Given the description of an element on the screen output the (x, y) to click on. 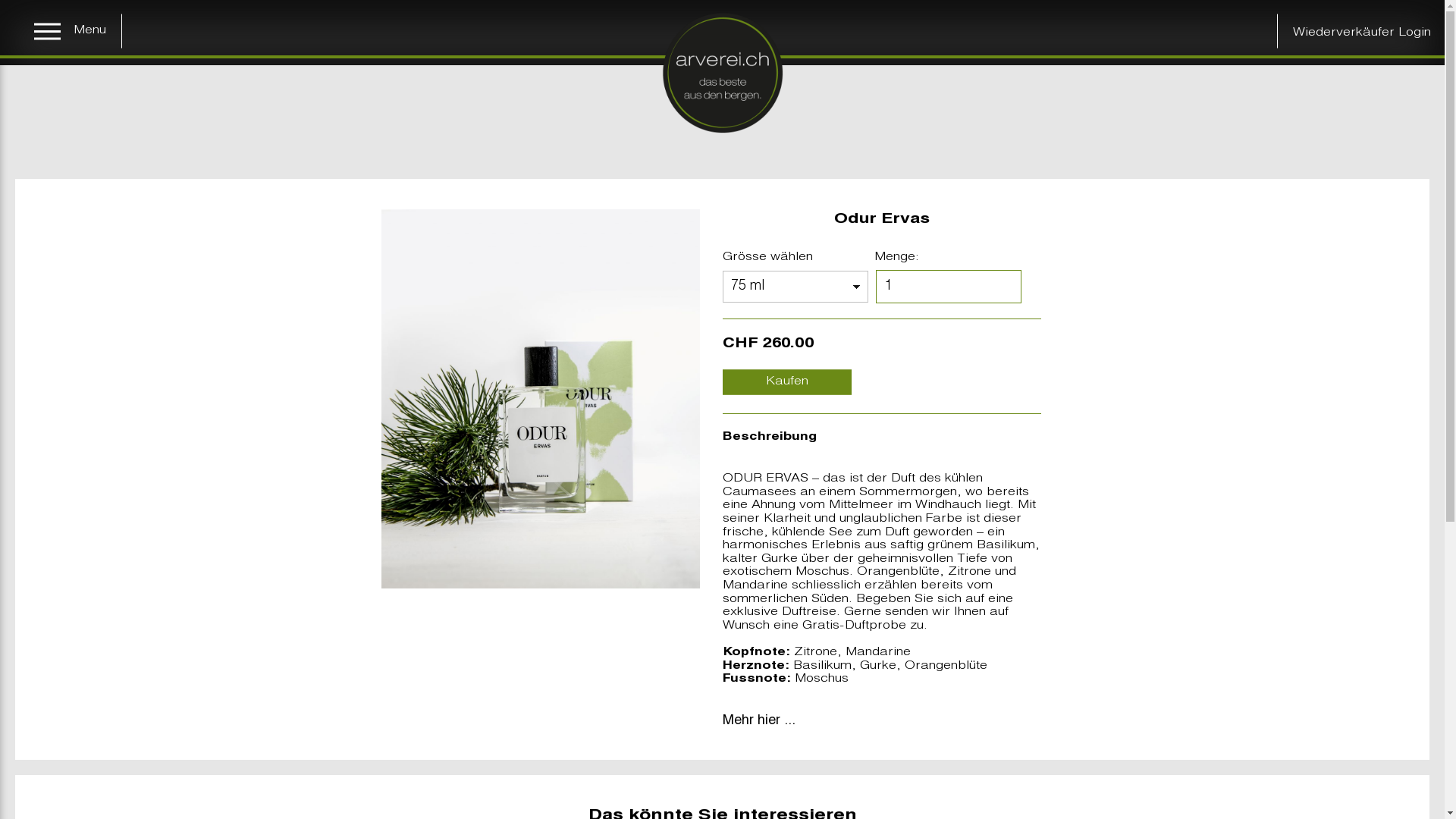
Mehr hier ... Element type: text (757, 721)
